Given the description of an element on the screen output the (x, y) to click on. 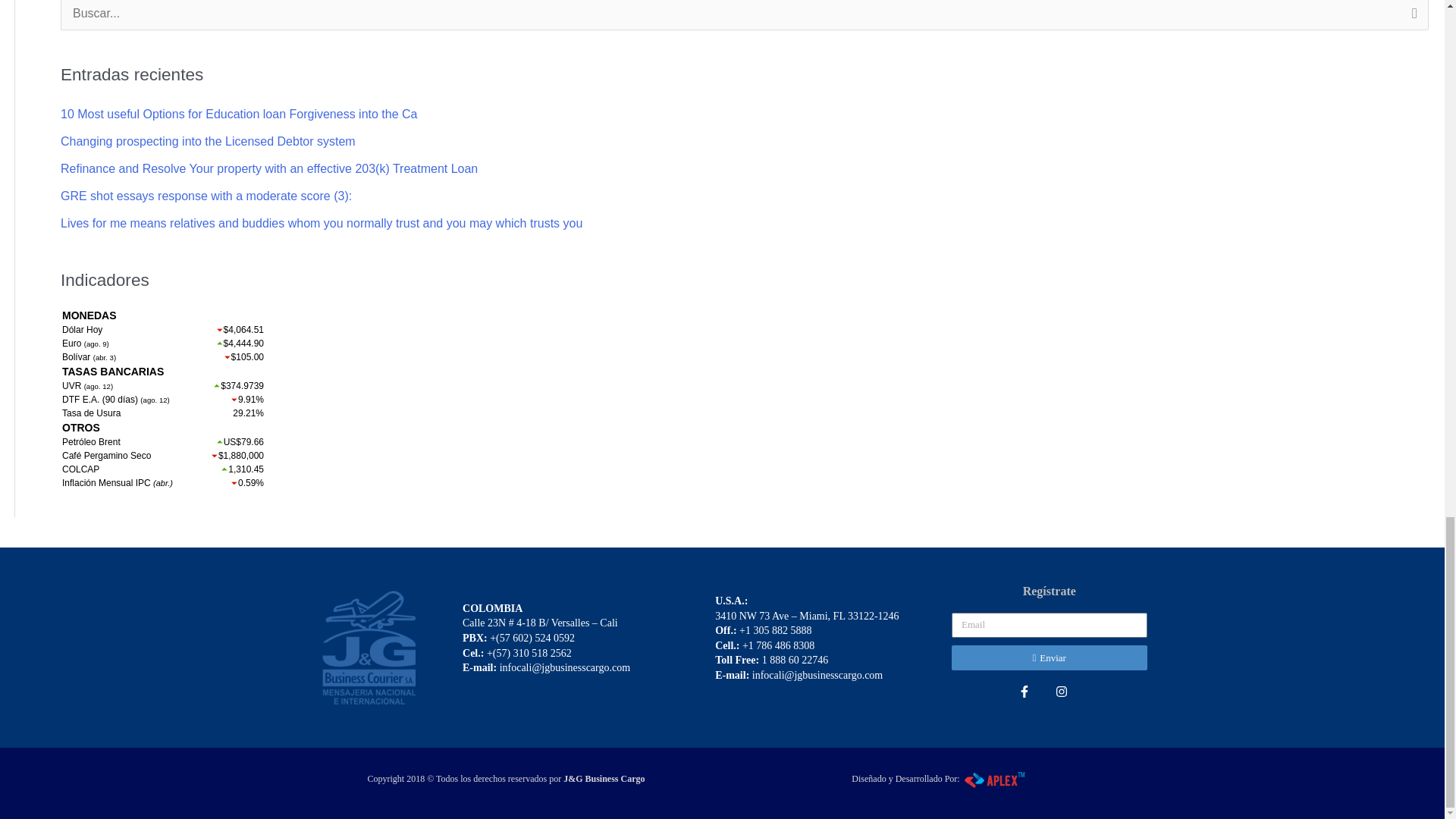
Enviar (1049, 657)
Facebook-f (1029, 697)
Changing prospecting into the Licensed Debtor system (208, 141)
Dolar (162, 407)
Instagram (1067, 697)
